Given the description of an element on the screen output the (x, y) to click on. 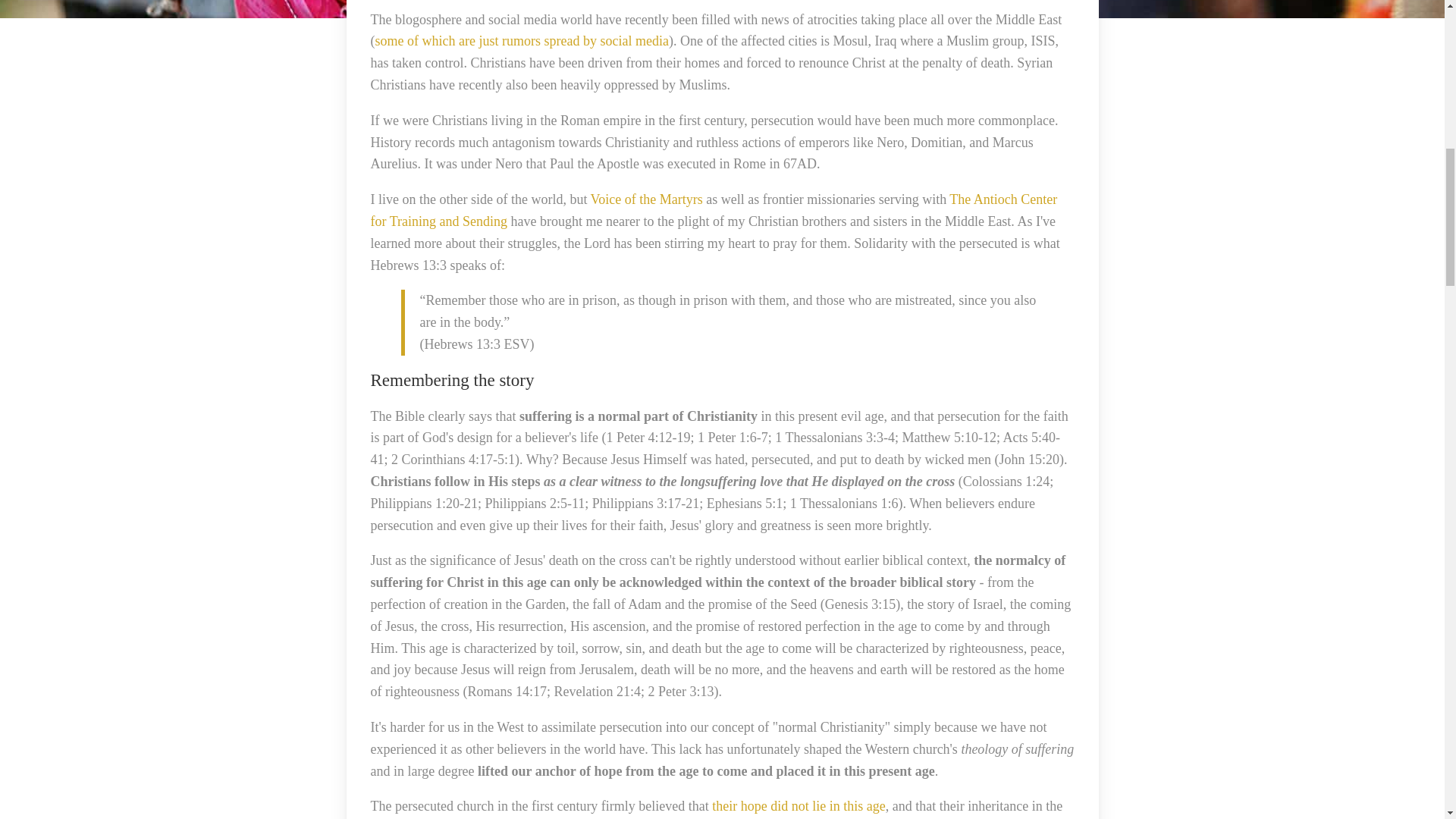
The Antioch Center for Training and Sending (713, 210)
their hope did not lie in this age (798, 806)
some of which are just rumors spread by social media (521, 40)
Voice of the Martyrs (647, 199)
